Given the description of an element on the screen output the (x, y) to click on. 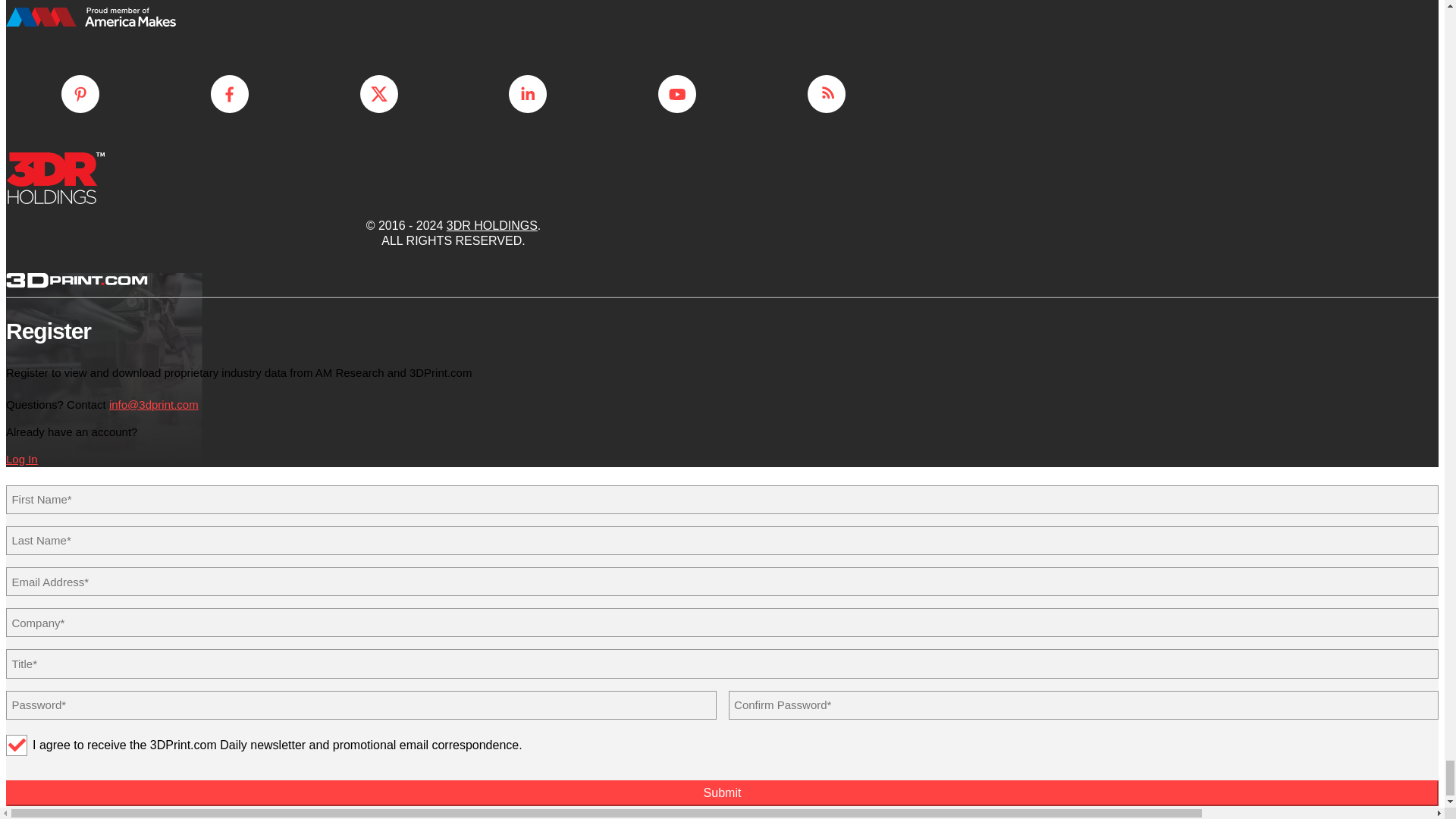
Submit (721, 792)
